Given the description of an element on the screen output the (x, y) to click on. 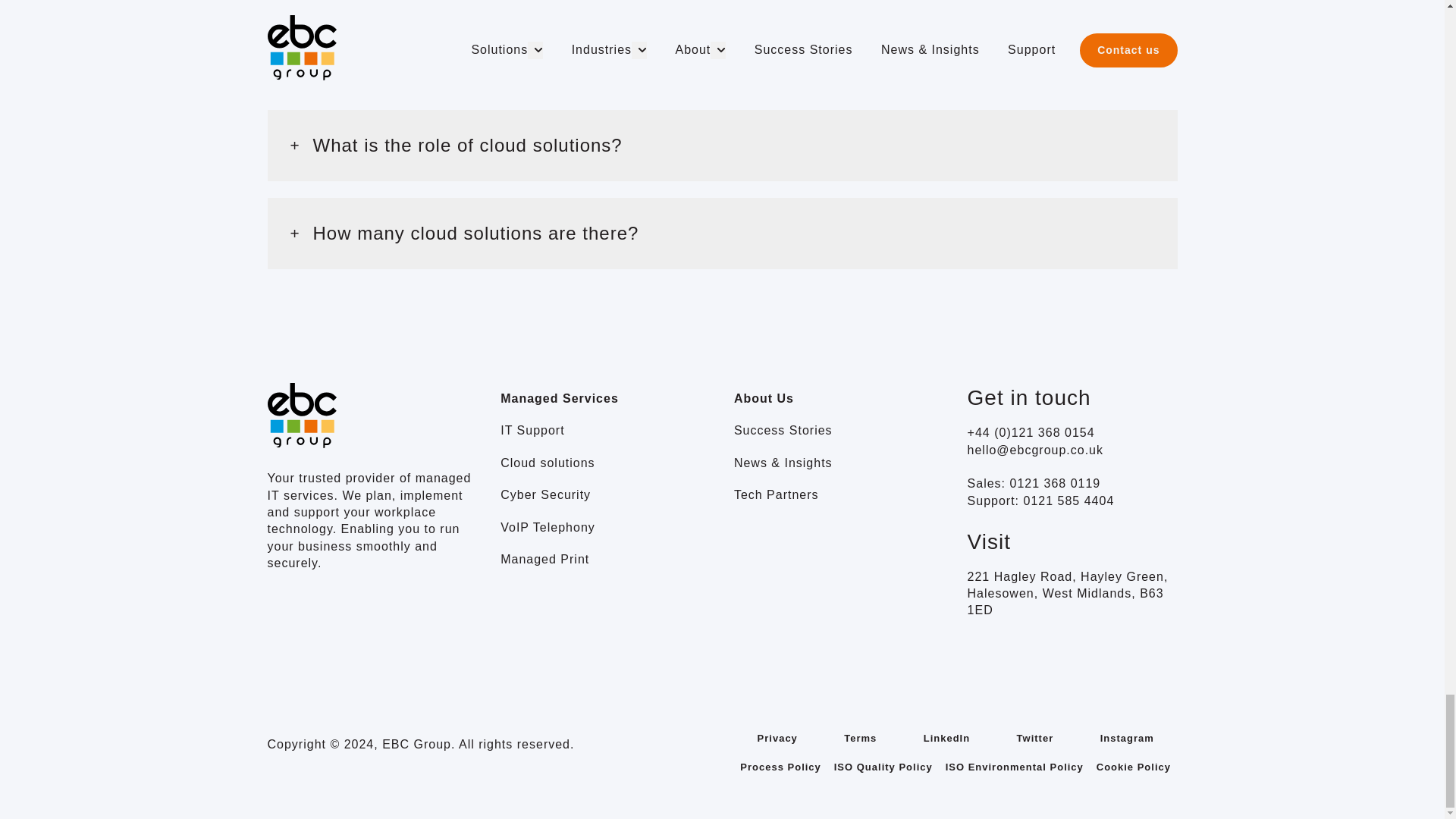
EBC Group (301, 415)
